Given the description of an element on the screen output the (x, y) to click on. 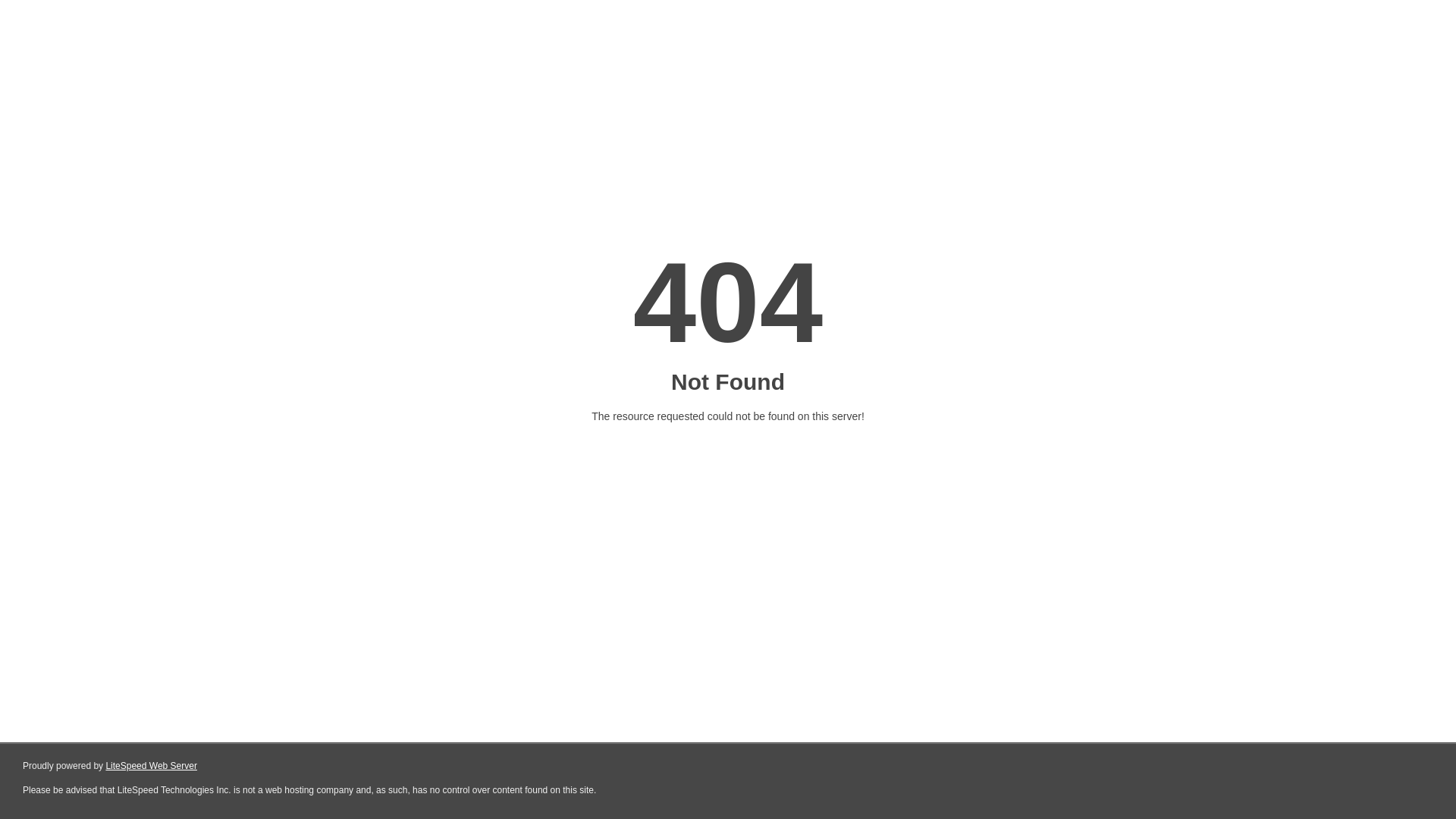
LiteSpeed Web Server Element type: text (151, 765)
